Given the description of an element on the screen output the (x, y) to click on. 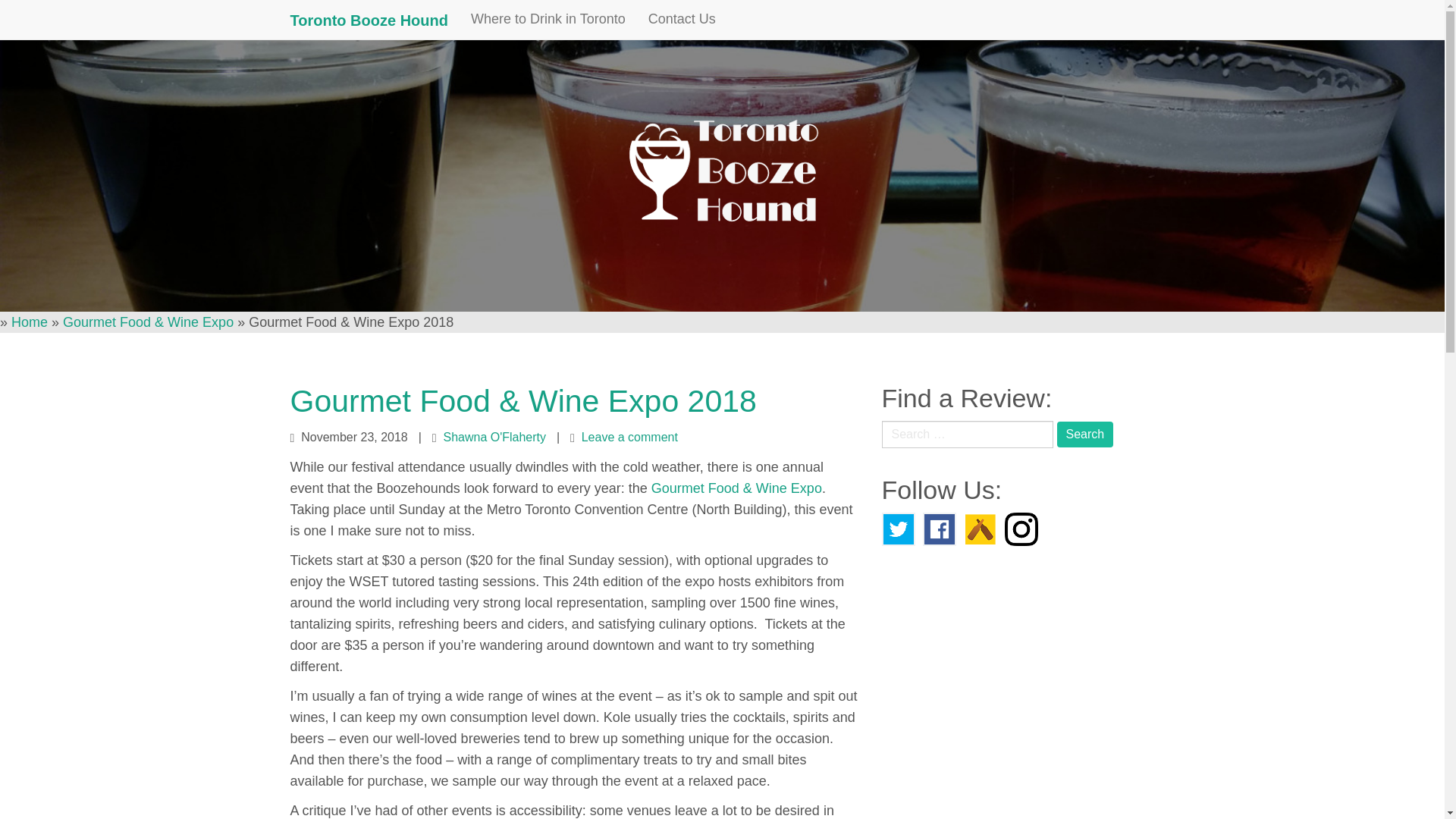
Leave a comment (629, 436)
Where to Drink in Toronto (548, 18)
Toronto Booze Hound (369, 20)
Contact Us (681, 18)
Search (1085, 434)
Search (1085, 434)
Search (1085, 434)
Shawna O'Flaherty (494, 436)
Home (29, 321)
Posts by Shawna O'Flaherty (494, 436)
